Given the description of an element on the screen output the (x, y) to click on. 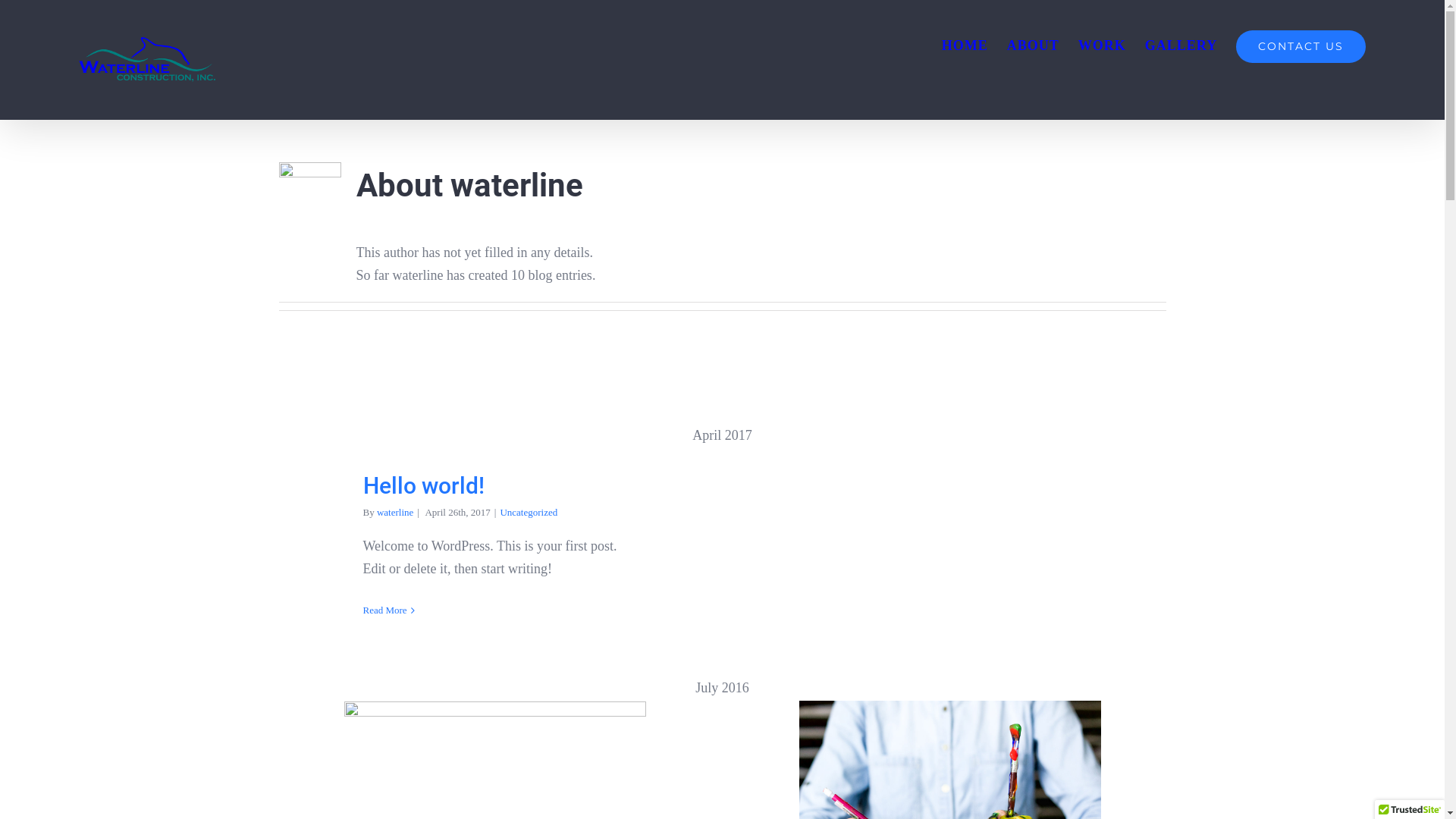
Uncategorized Element type: text (528, 511)
WORK Element type: text (1102, 45)
waterline Element type: text (394, 511)
ABOUT Element type: text (1033, 45)
CONTACT US Element type: text (1300, 45)
HOME Element type: text (964, 45)
Hello world! Element type: text (422, 485)
GALLERY Element type: text (1181, 45)
Read More Element type: text (384, 610)
